Given the description of an element on the screen output the (x, y) to click on. 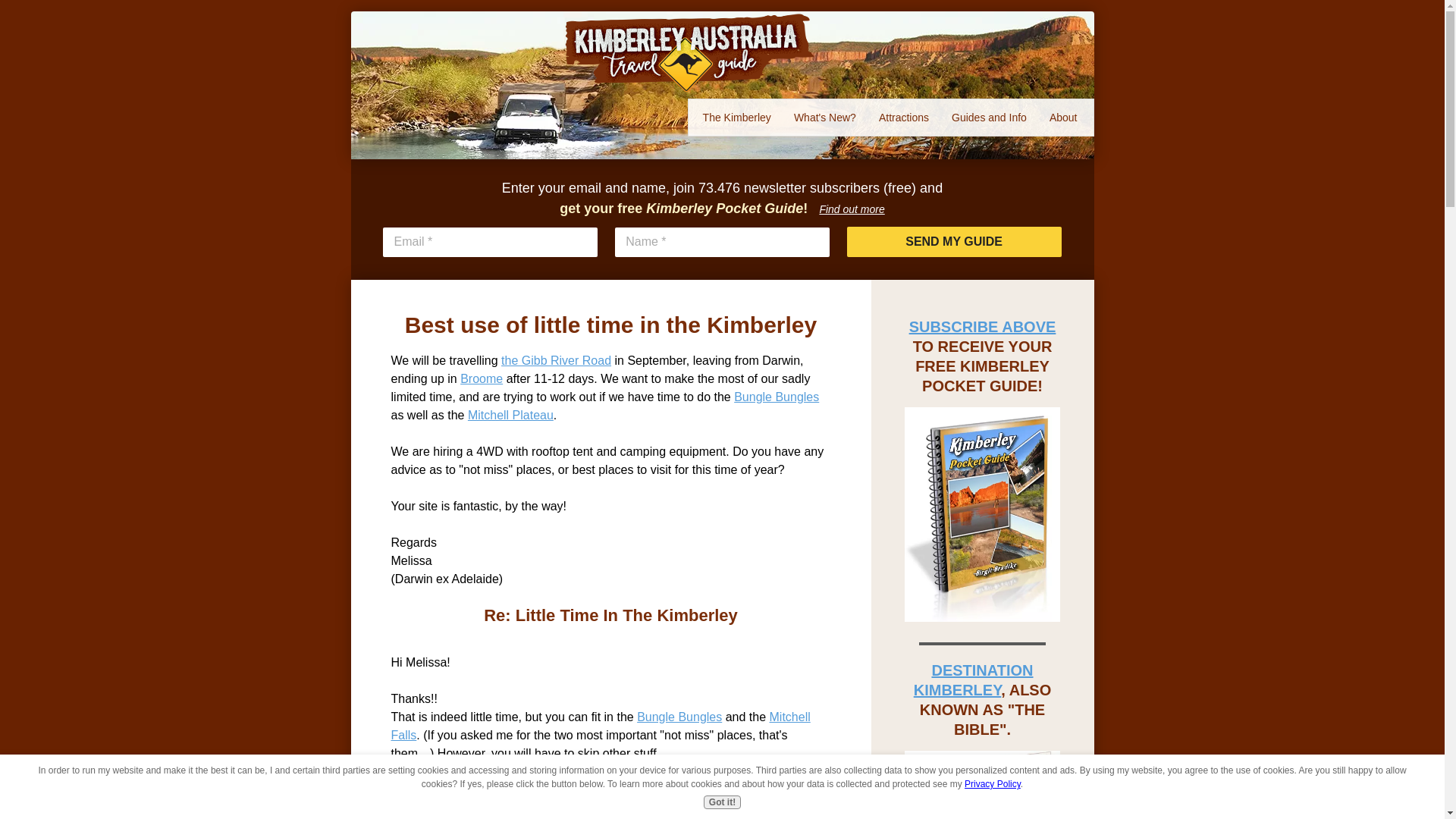
Mitchell Falls (600, 726)
Bungle Bungles (775, 396)
Bungle Bungles (679, 716)
The Kimberley (738, 117)
Go to FREE Kimberley Travel Guide (982, 617)
1 (688, 52)
Broome (481, 378)
What's New? (825, 117)
the Gibb River Road (555, 359)
Find out more (850, 209)
Send my Guide (954, 241)
Mitchell Plateau (510, 414)
